Given the description of an element on the screen output the (x, y) to click on. 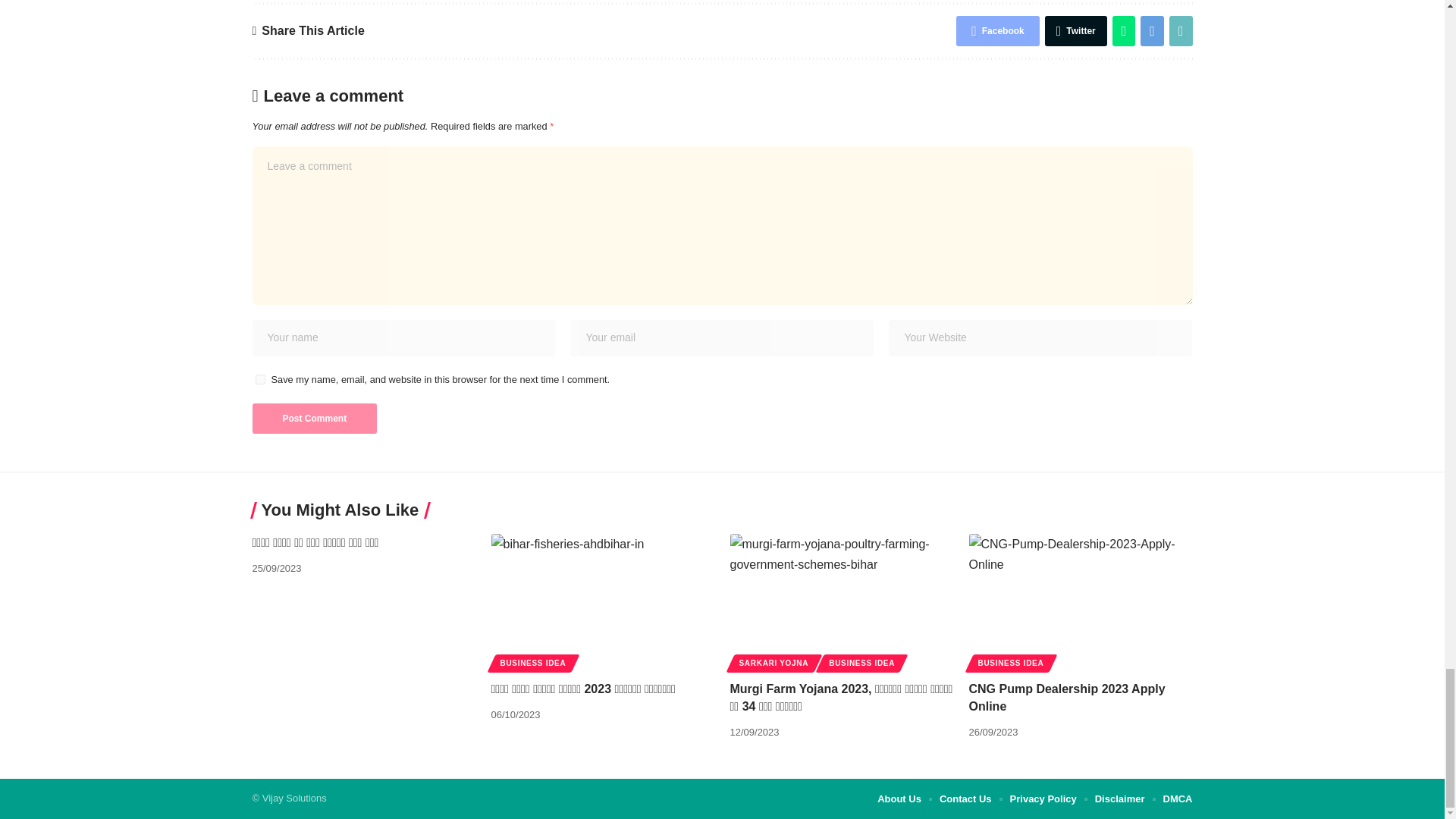
yes (259, 379)
CNG Pump Dealership 2023 Apply Online (1080, 600)
Post Comment (314, 418)
